Given the description of an element on the screen output the (x, y) to click on. 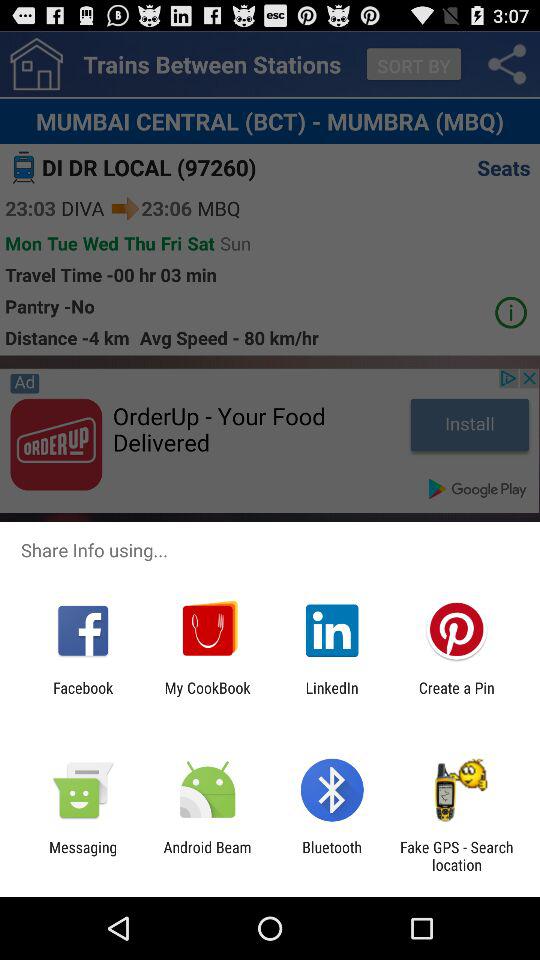
press app next to my cookbook item (83, 696)
